Given the description of an element on the screen output the (x, y) to click on. 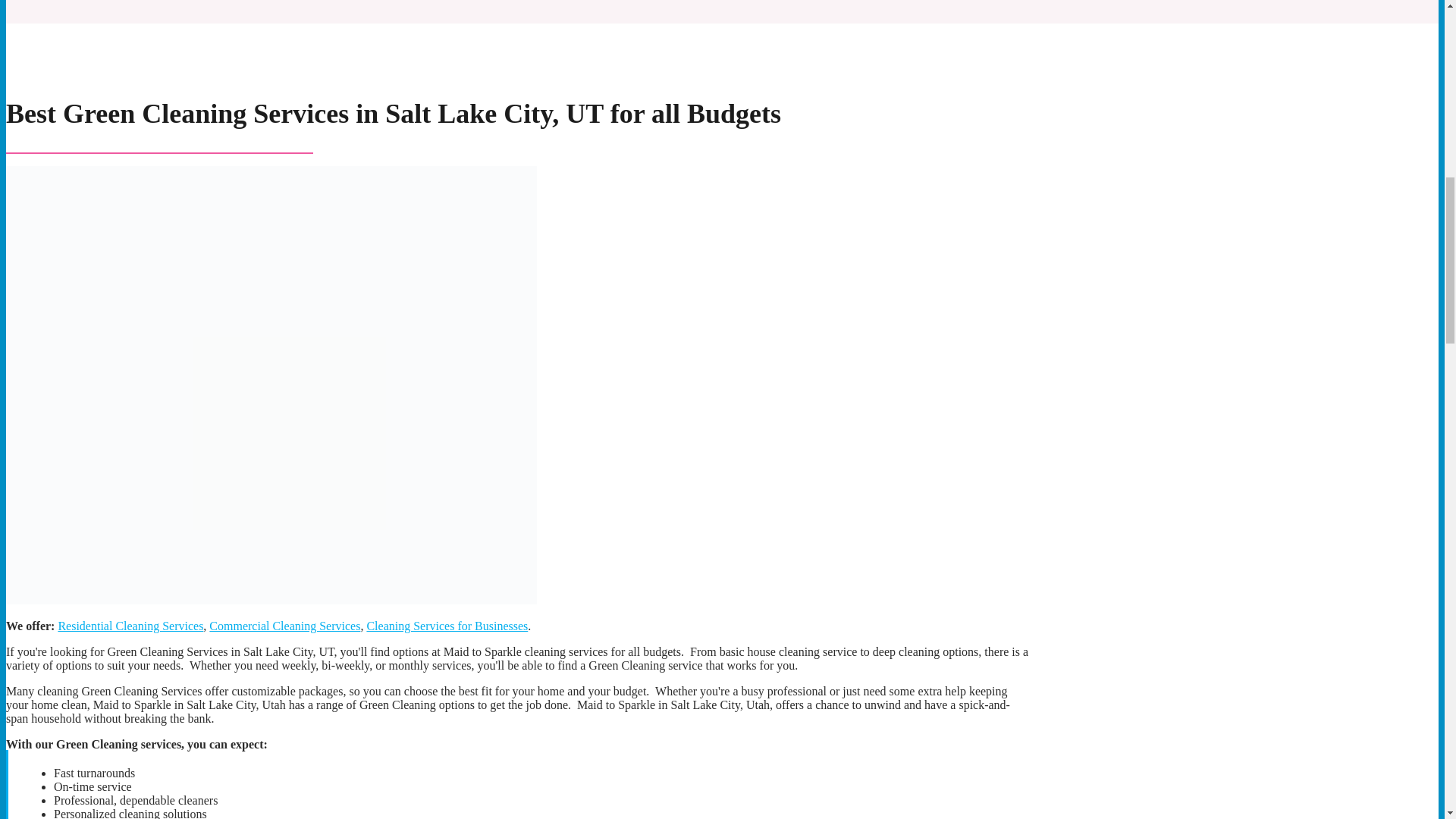
Residential Cleaning Services (130, 625)
Cleaning Services for Businesses (446, 625)
Commercial Cleaning Services (284, 625)
